Given the description of an element on the screen output the (x, y) to click on. 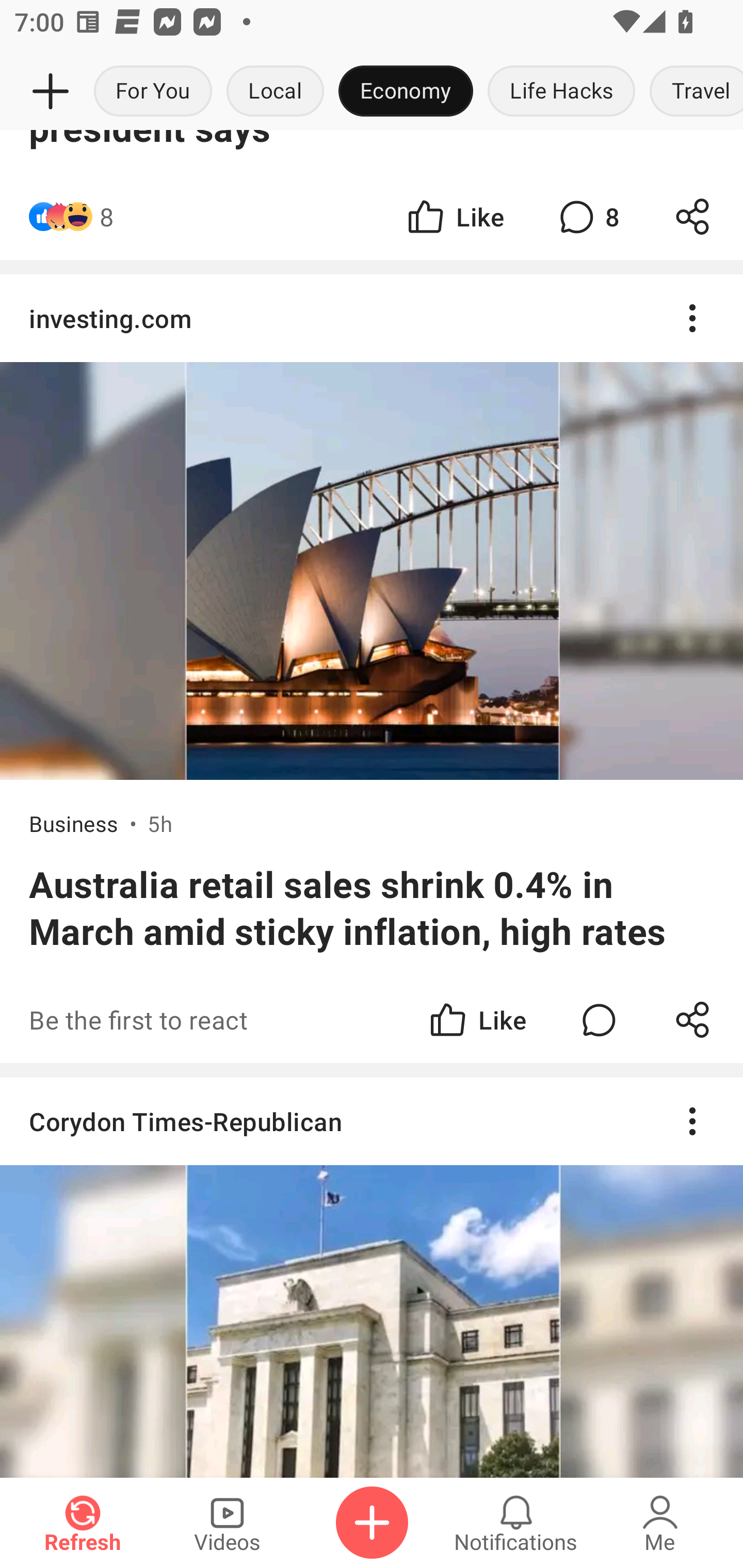
For You (152, 91)
Local (275, 91)
Economy (405, 91)
Life Hacks (561, 91)
Travel (692, 91)
8 (106, 217)
Like (454, 217)
8 (587, 217)
investing.com (371, 318)
Be the first to react (244, 1019)
Like (476, 1019)
Corydon Times-Republican (371, 1277)
Corydon Times-Republican (371, 1121)
Videos (227, 1522)
Notifications (516, 1522)
Me (659, 1522)
